Given the description of an element on the screen output the (x, y) to click on. 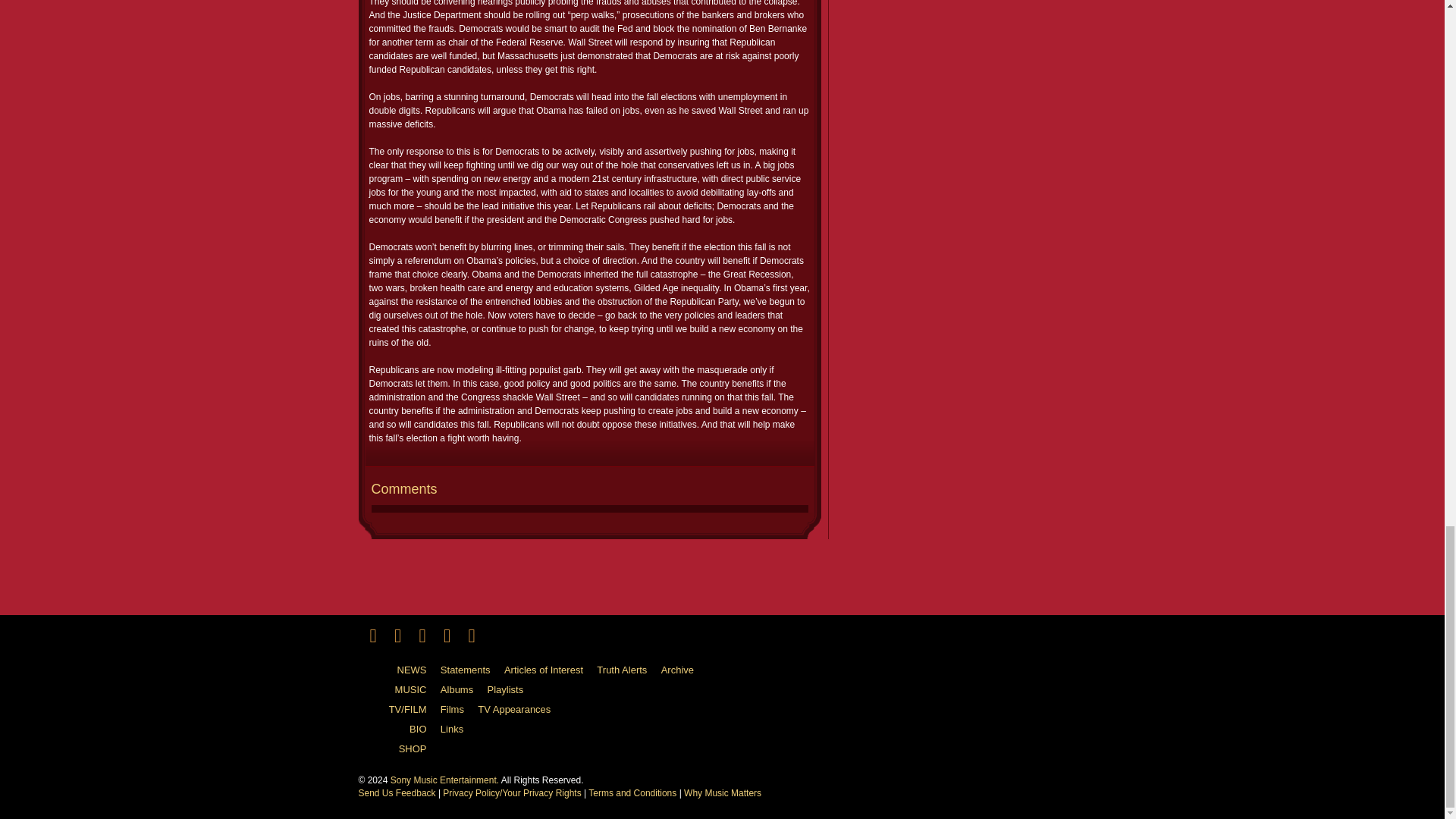
Archive (682, 670)
Statements (471, 670)
Articles of Interest (548, 670)
MUSIC (398, 690)
NEWS (398, 670)
Albums (462, 690)
Truth Alerts (627, 670)
Playlists (511, 690)
